Given the description of an element on the screen output the (x, y) to click on. 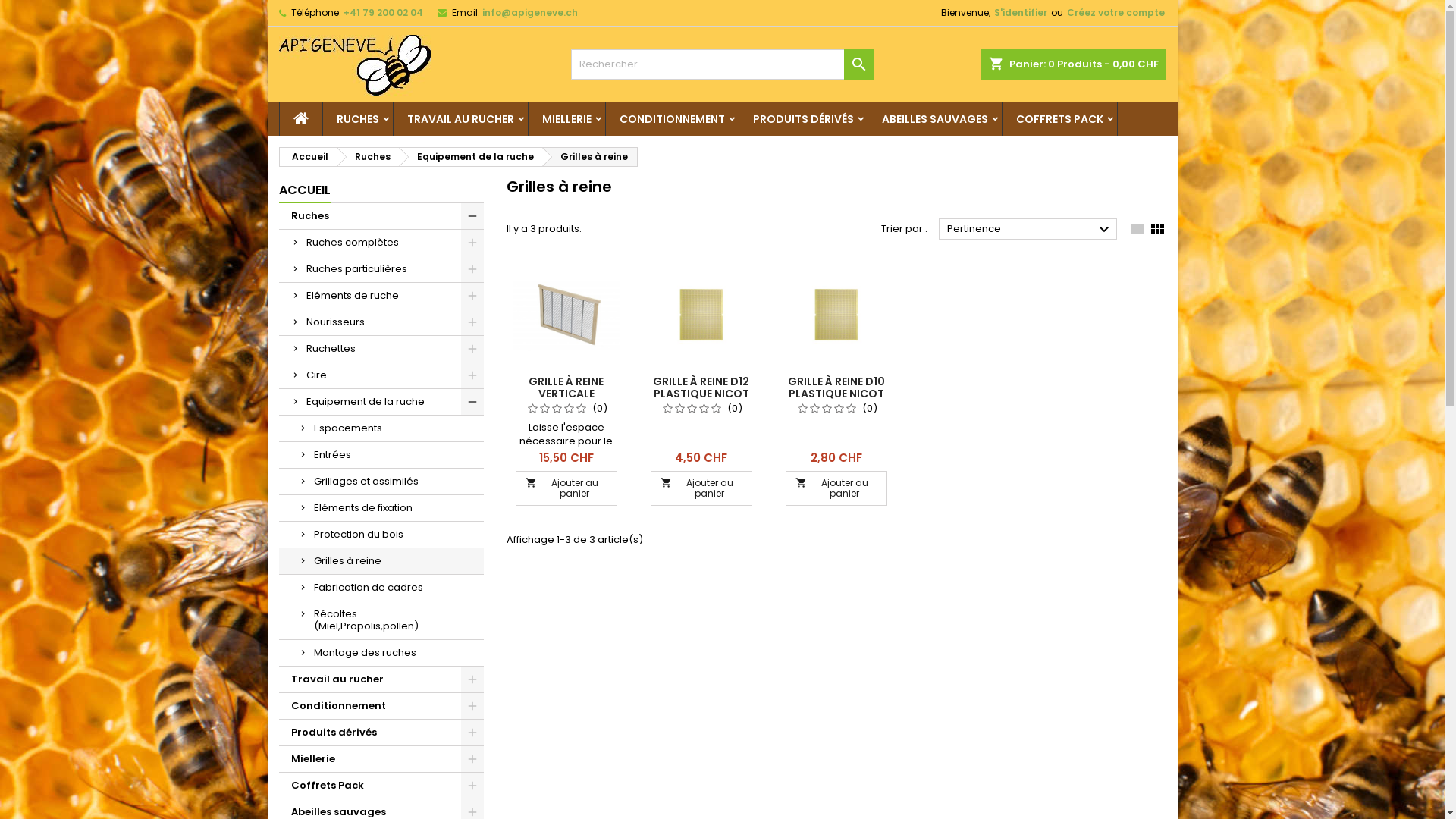
shopping_cart
Panier: 0 Produits - 0,00 CHF Element type: text (1072, 64)
Equipement de la ruche Element type: text (381, 402)
Conditionnement Element type: text (381, 706)
S'identifier Element type: text (1019, 12)
Protection du bois Element type: text (381, 534)
Ruches Element type: text (381, 216)
RUCHES Element type: text (357, 118)
+41 79 200 02 04 Element type: text (382, 12)
ACCUEIL Element type: text (304, 190)
Ruchettes Element type: text (381, 348)
MIELLERIE Element type: text (565, 118)
Cire Element type: text (381, 375)
Coffrets Pack Element type: text (381, 785)
ABEILLES SAUVAGES Element type: text (934, 118)
Nourisseurs Element type: text (381, 322)
Miellerie Element type: text (381, 759)
Espacements Element type: text (381, 428)
Travail au rucher Element type: text (381, 679)
TRAVAIL AU RUCHER Element type: text (459, 118)
Accueil Element type: text (307, 156)
Equipement de la ruche Element type: text (470, 156)
COFFRETS PACK Element type: text (1059, 118)
Fabrication de cadres Element type: text (381, 587)
info@apigeneve.ch Element type: text (529, 12)
Montage des ruches Element type: text (381, 653)
Ruches Element type: text (368, 156)
CONDITIONNEMENT Element type: text (671, 118)
